Given the description of an element on the screen output the (x, y) to click on. 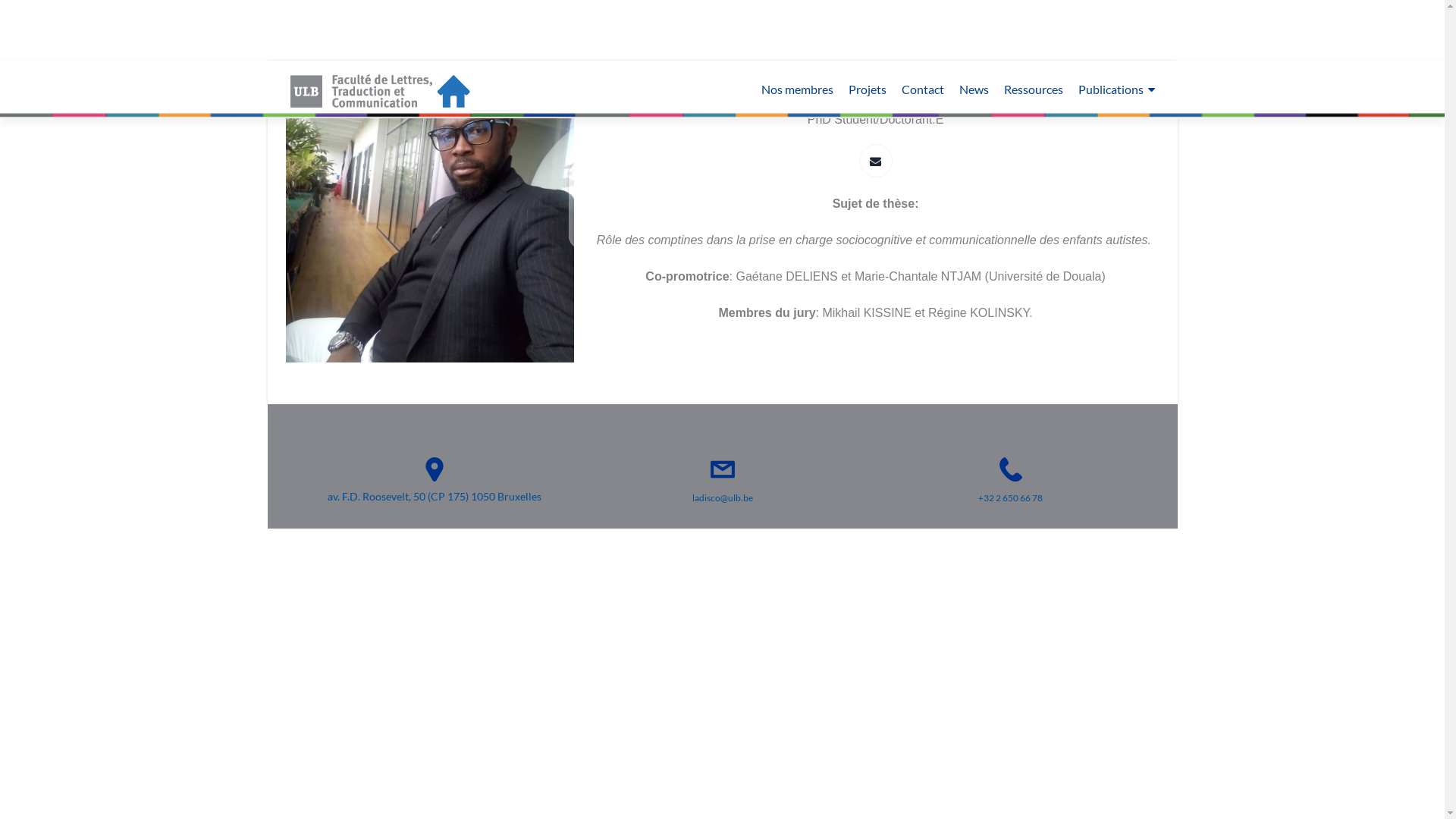
News Element type: text (973, 88)
Publications Element type: text (1116, 89)
Contact Element type: text (921, 88)
Ressources Element type: text (1033, 88)
+32 2 650 66 78 Element type: text (1010, 497)
Projets Element type: text (866, 88)
ladisco@ulb.be Element type: text (721, 497)
Nos membres Element type: text (797, 88)
